Given the description of an element on the screen output the (x, y) to click on. 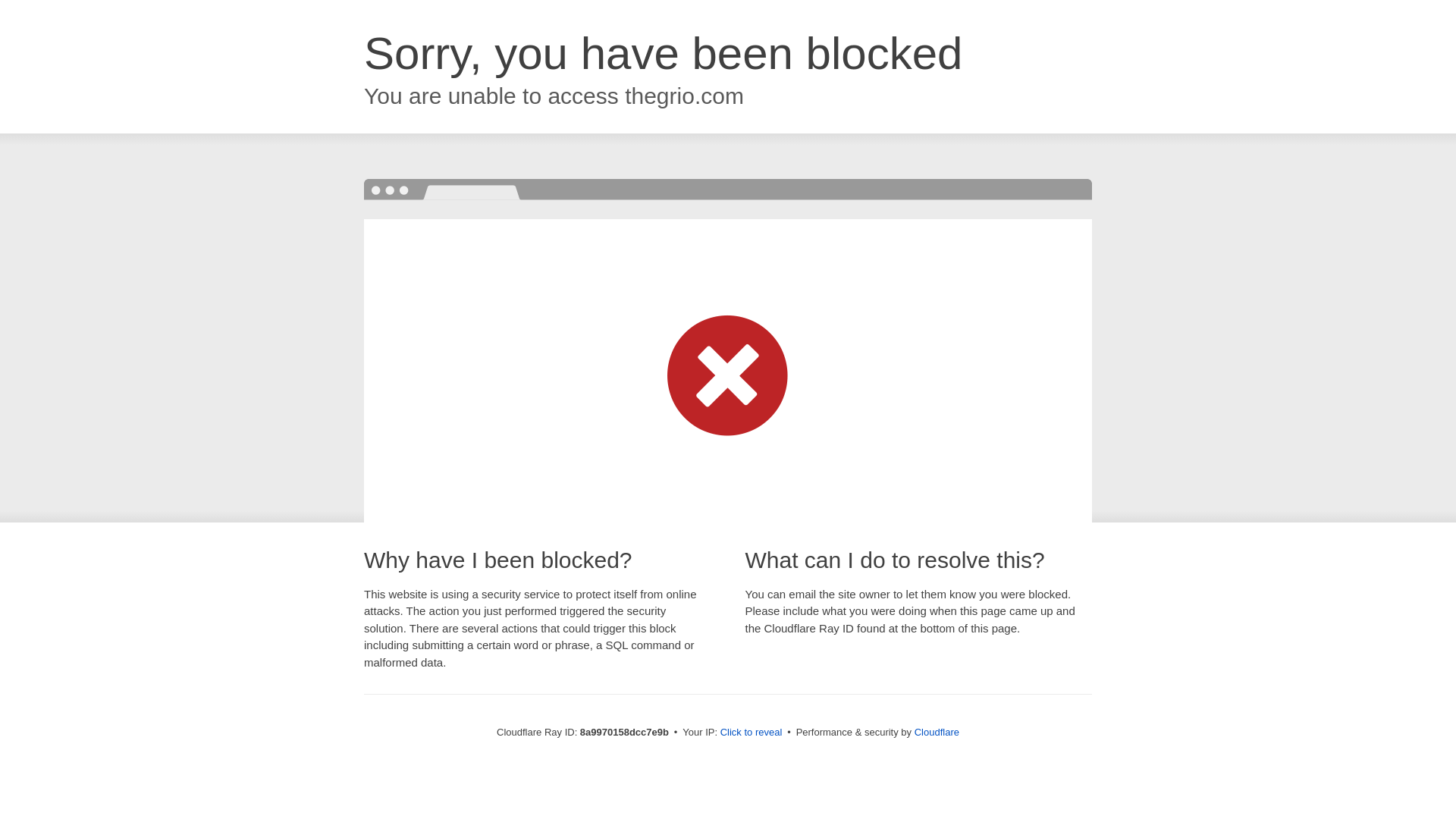
Click to reveal (751, 732)
Cloudflare (936, 731)
